Given the description of an element on the screen output the (x, y) to click on. 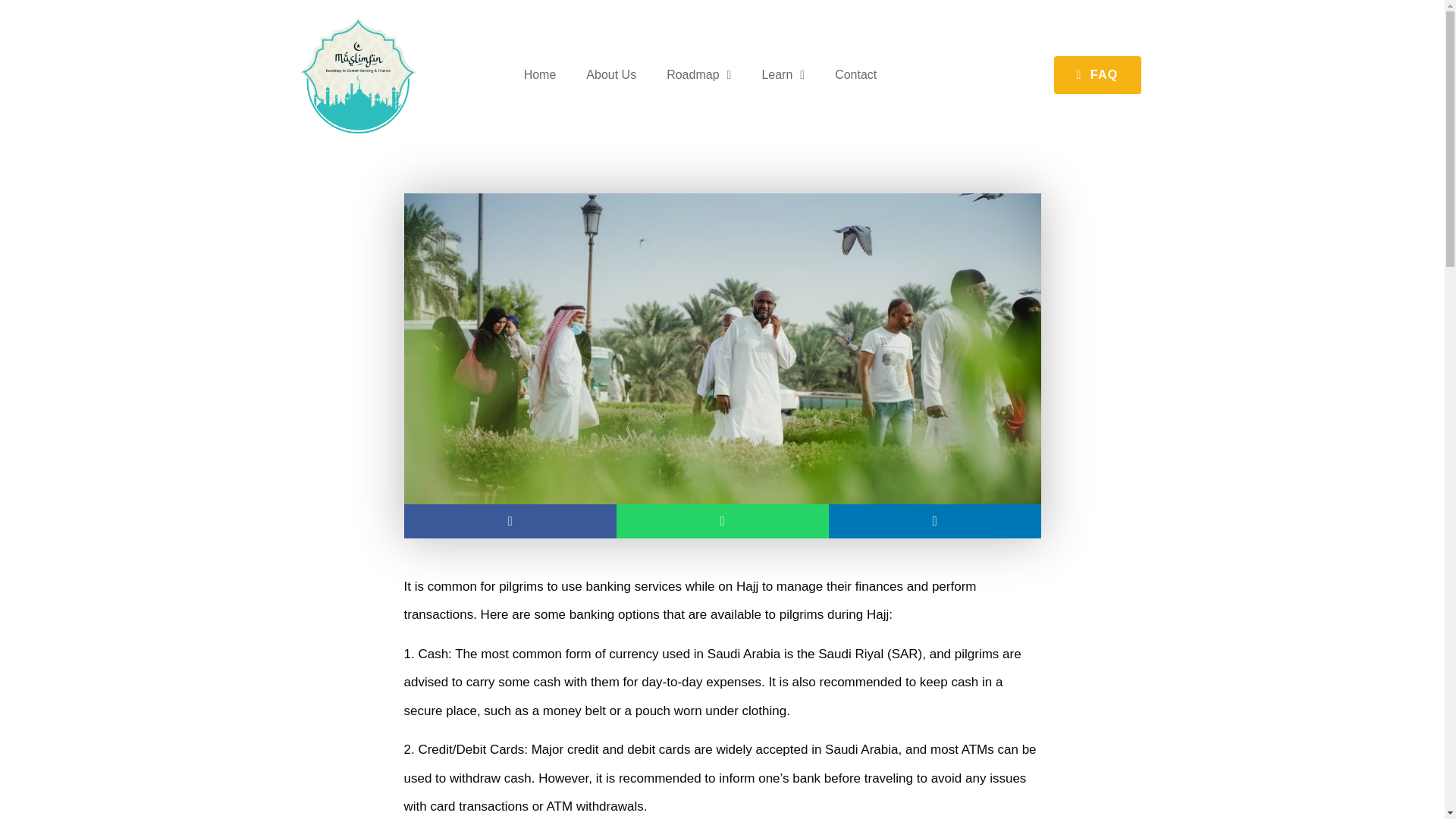
FAQ (1097, 75)
Roadmap (697, 74)
About Us (610, 74)
Contact (855, 74)
Learn (782, 74)
Home (540, 74)
